Given the description of an element on the screen output the (x, y) to click on. 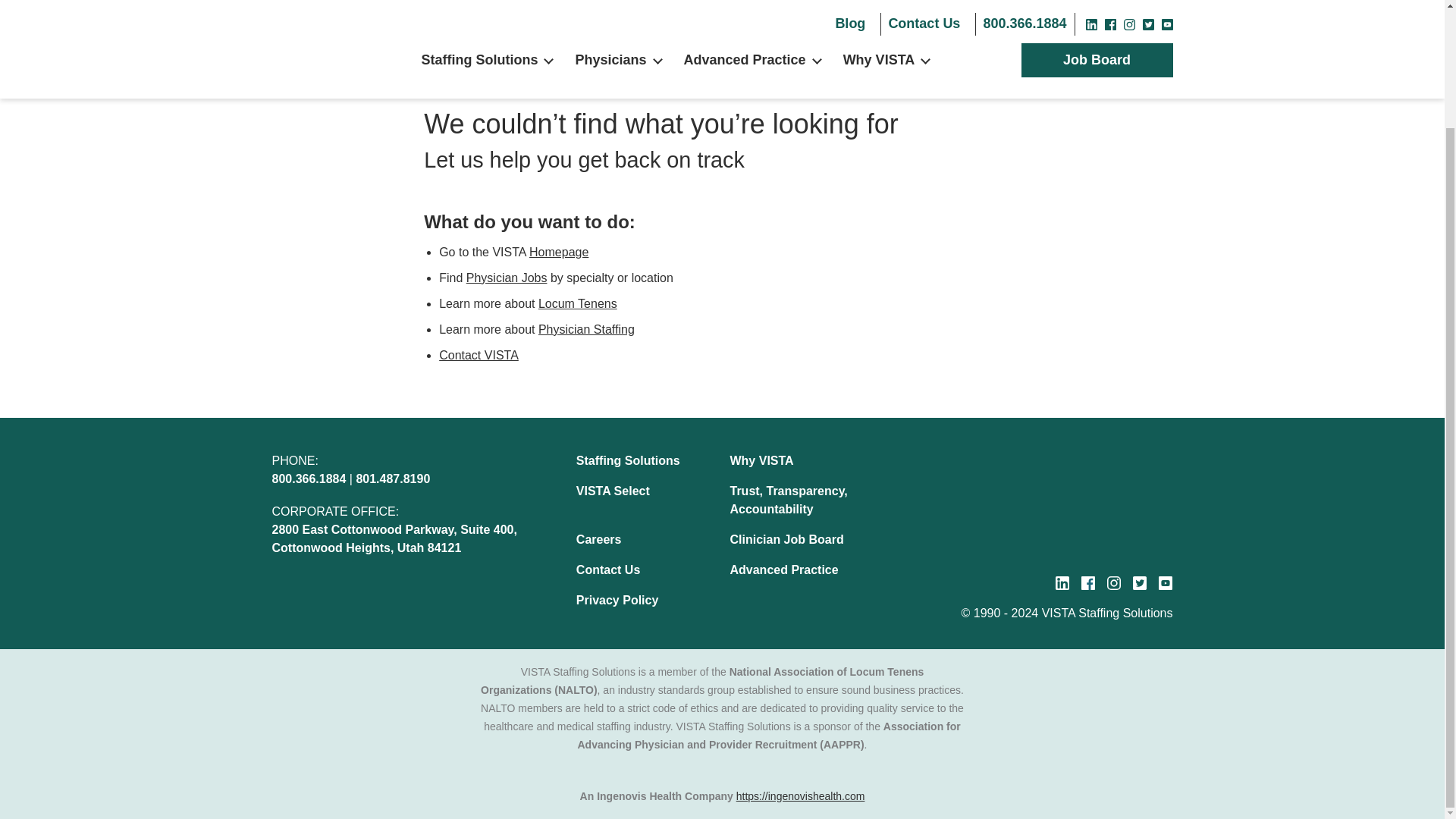
instagram (1113, 582)
Physician Staffing (586, 328)
Homepage (558, 251)
youtube (1165, 582)
facebook (1087, 582)
Locum Tenens (577, 303)
linkedin (1061, 582)
twitter (1139, 582)
Physician Jobs (506, 277)
